Given the description of an element on the screen output the (x, y) to click on. 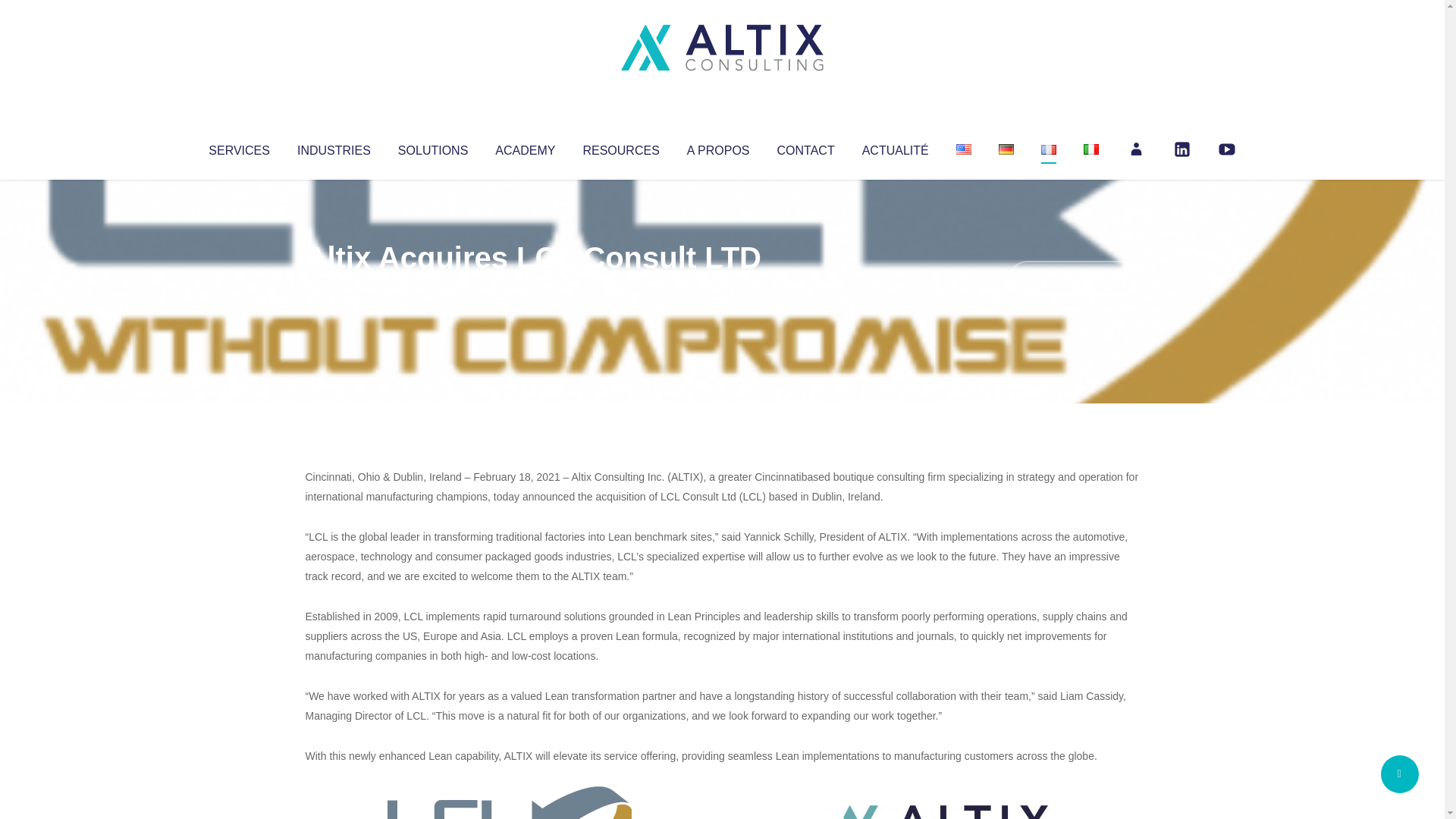
No Comments (1073, 278)
Altix (333, 287)
SOLUTIONS (432, 146)
INDUSTRIES (334, 146)
SERVICES (238, 146)
Articles par Altix (333, 287)
RESOURCES (620, 146)
Uncategorized (530, 287)
ACADEMY (524, 146)
A PROPOS (718, 146)
